Given the description of an element on the screen output the (x, y) to click on. 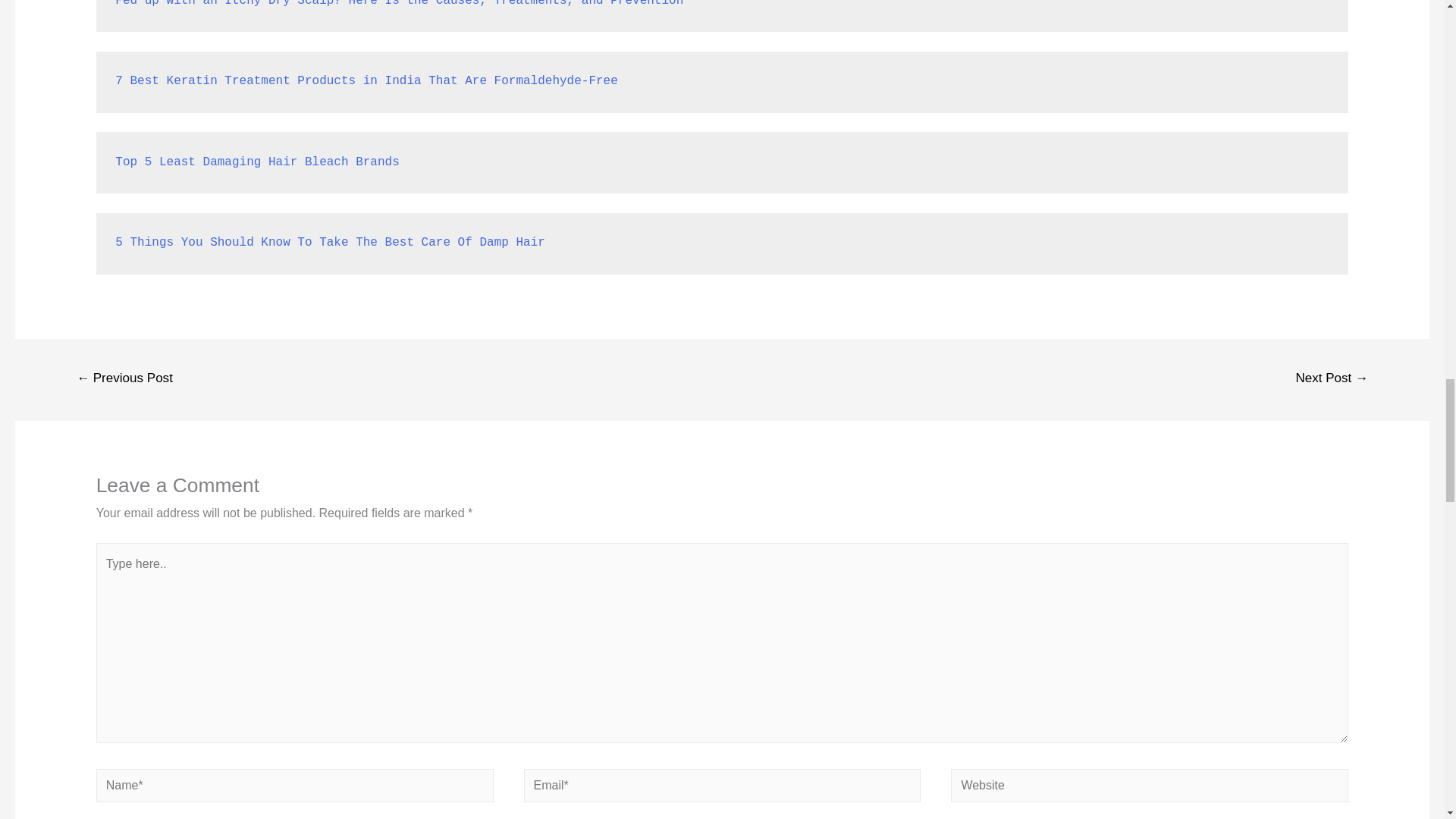
5 Things You Should Know To Take The Best Care Of Damp Hair (329, 242)
Top 5 Least Damaging Hair Bleach Brands (256, 161)
